Given the description of an element on the screen output the (x, y) to click on. 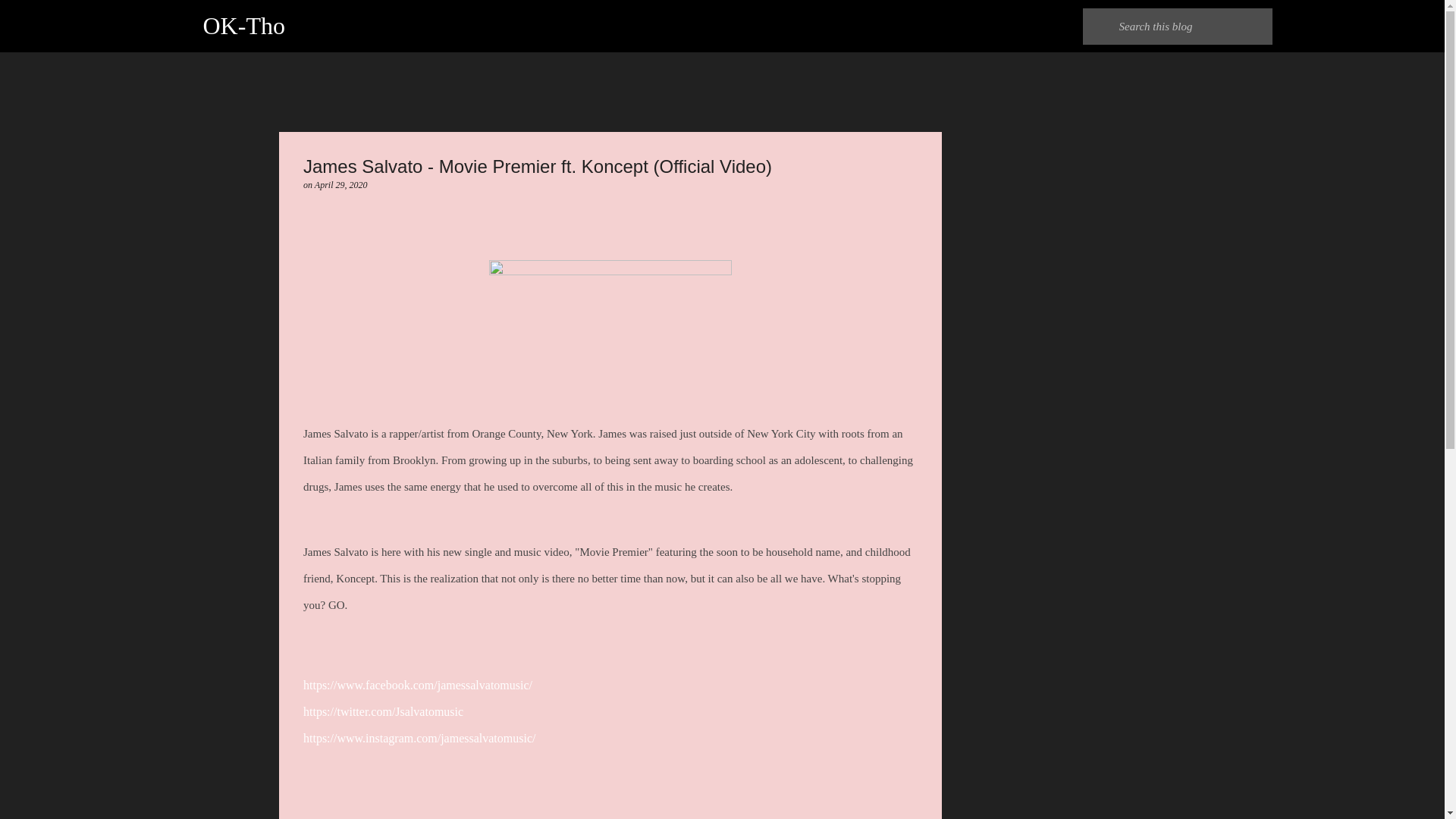
permanent link (341, 184)
April 29, 2020 (341, 184)
OK-Tho (244, 25)
